Given the description of an element on the screen output the (x, y) to click on. 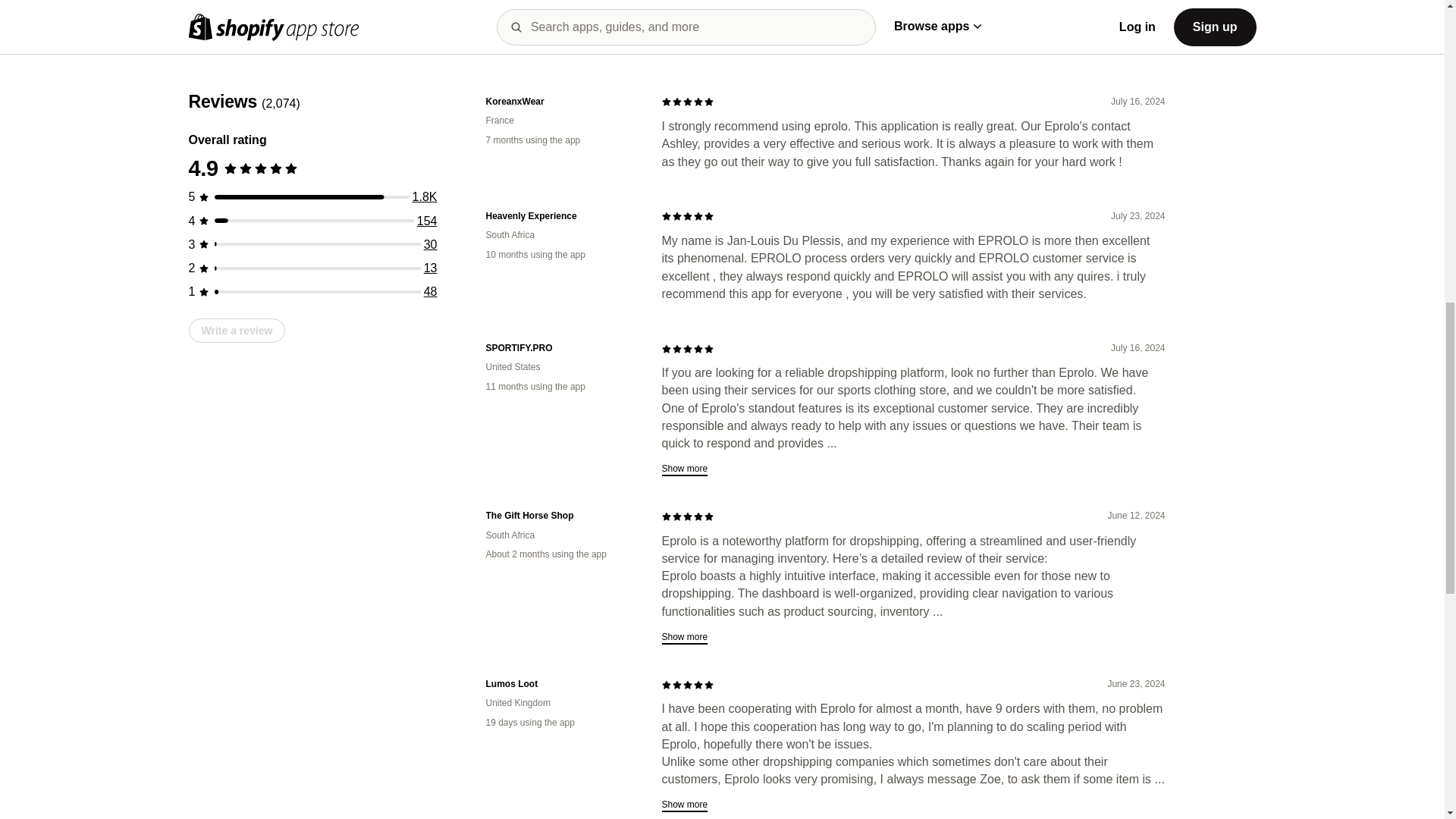
Lumos Loot (560, 798)
South Sleep (560, 684)
The Gift Horse Shop (560, 515)
KoreanxWear (560, 101)
Heavenly Experience (560, 383)
SPORTIFY.PRO (560, 215)
